Given the description of an element on the screen output the (x, y) to click on. 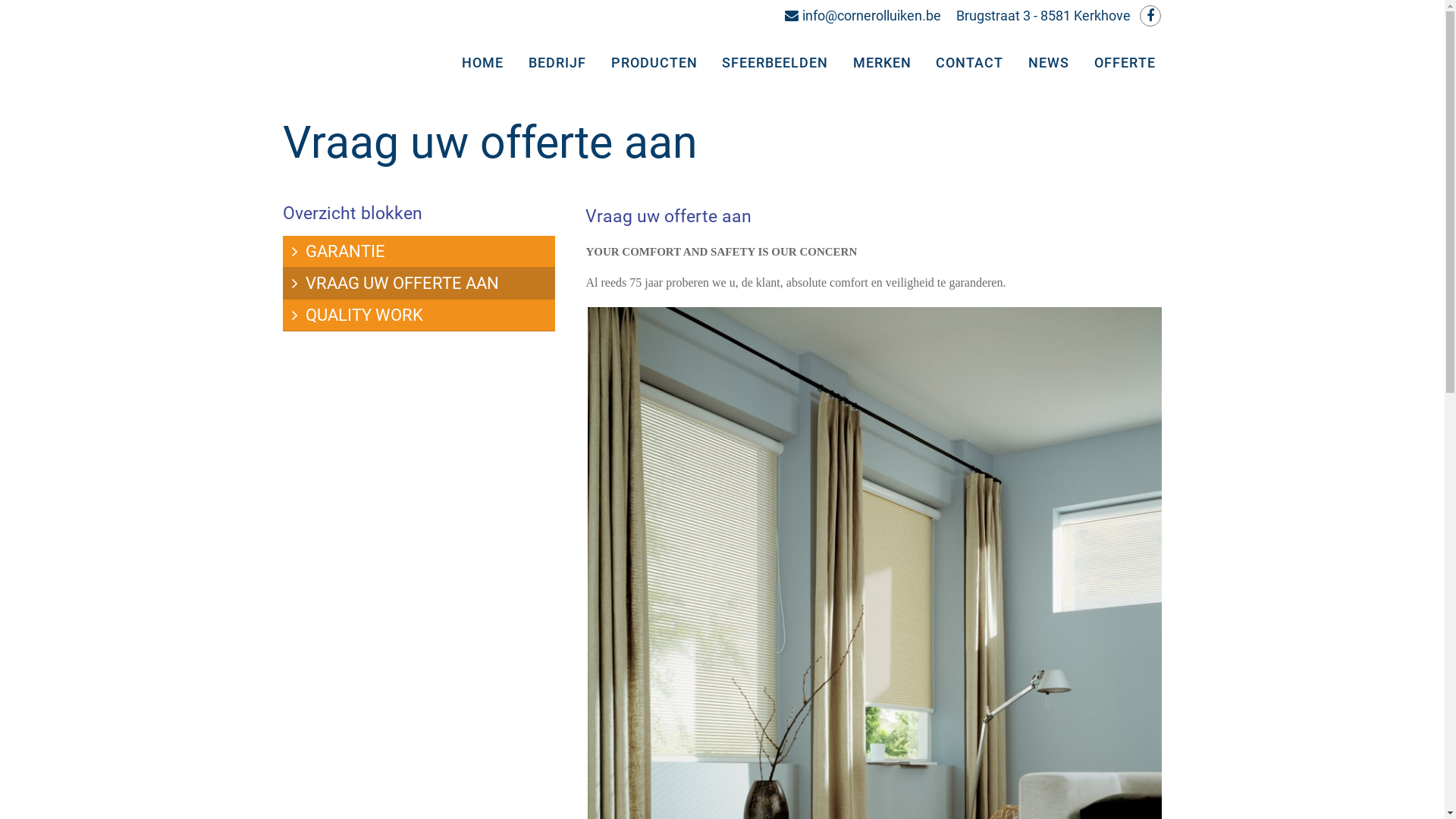
NEWS Element type: text (1050, 62)
GARANTIE Element type: text (418, 251)
SFEERBEELDEN Element type: text (777, 62)
CONTACT Element type: text (971, 62)
PRODUCTEN Element type: text (656, 62)
QUALITY WORK Element type: text (418, 315)
info@cornerolluiken.be Element type: text (862, 15)
HOME Element type: text (485, 62)
MERKEN Element type: text (884, 62)
BEDRIJF Element type: text (559, 62)
OFFERTE Element type: text (1126, 62)
VRAAG UW OFFERTE AAN Element type: text (418, 283)
